Given the description of an element on the screen output the (x, y) to click on. 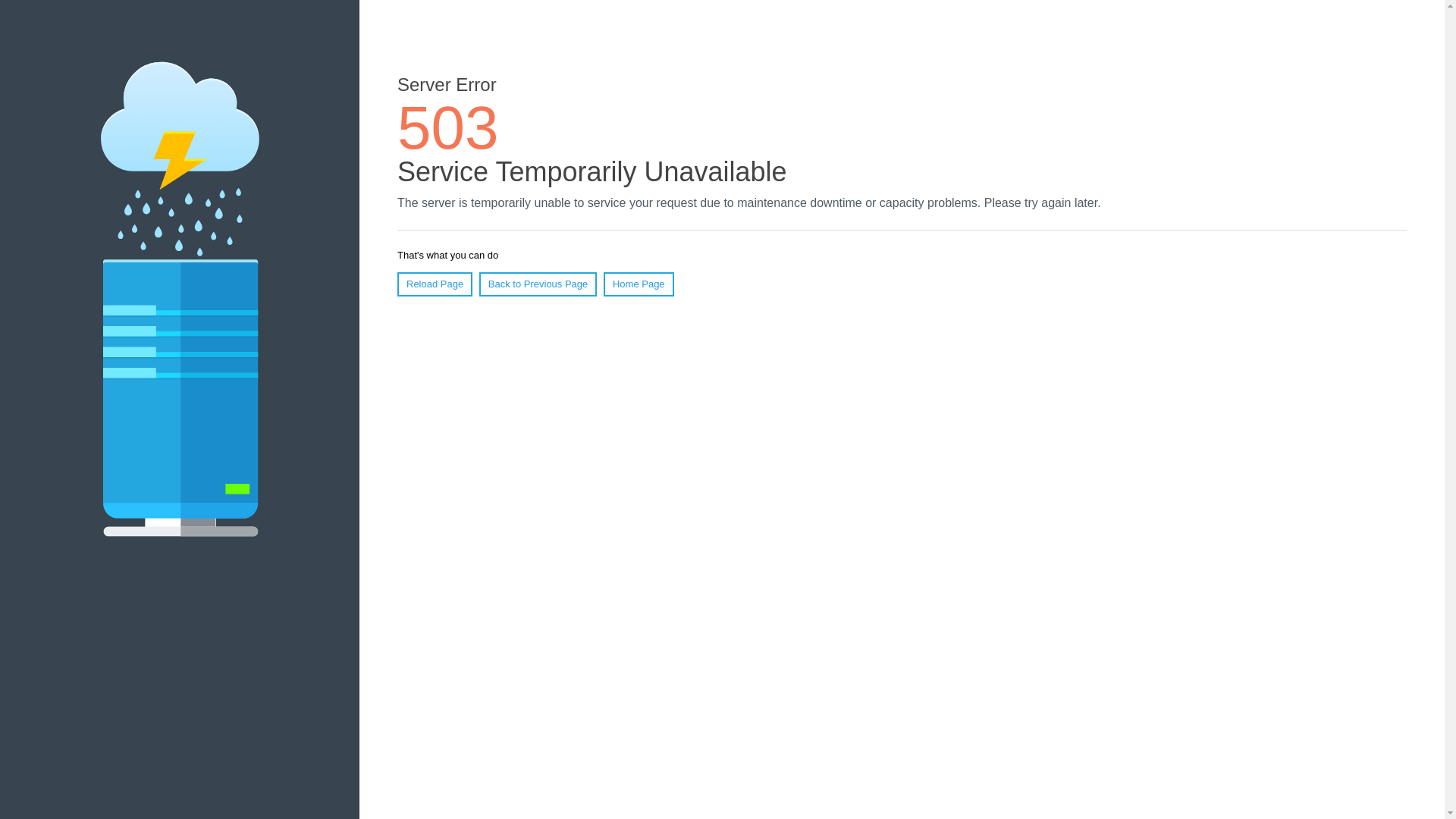
Back to Previous Page Element type: text (538, 284)
Home Page Element type: text (638, 284)
Reload Page Element type: text (434, 284)
